Given the description of an element on the screen output the (x, y) to click on. 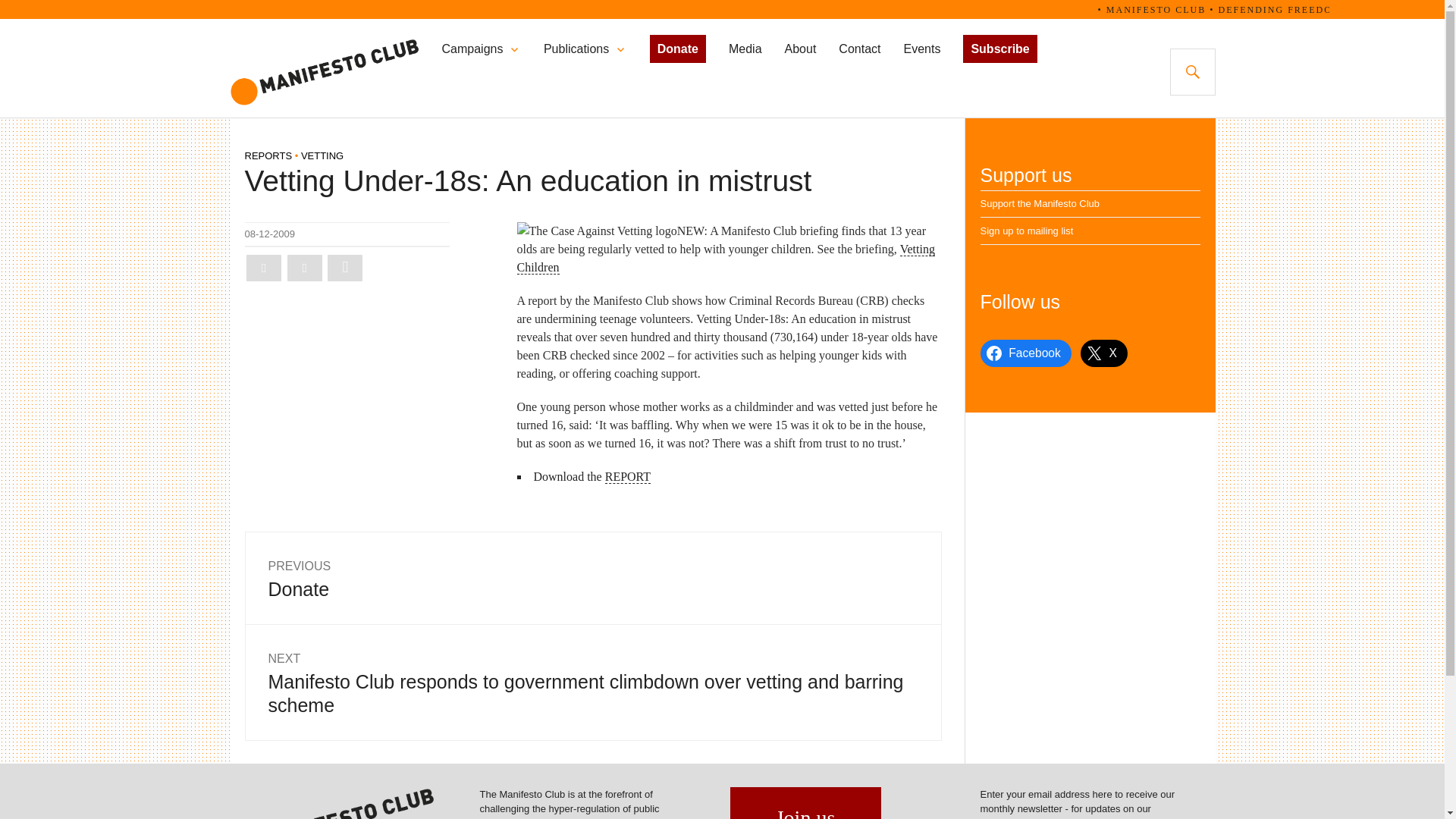
VETTING (322, 155)
About (800, 48)
Tweet on Twitter (592, 577)
08-12-2009 (263, 267)
Publications (269, 233)
Share via mail (575, 48)
Donate (344, 267)
Vetting Children (677, 48)
